Given the description of an element on the screen output the (x, y) to click on. 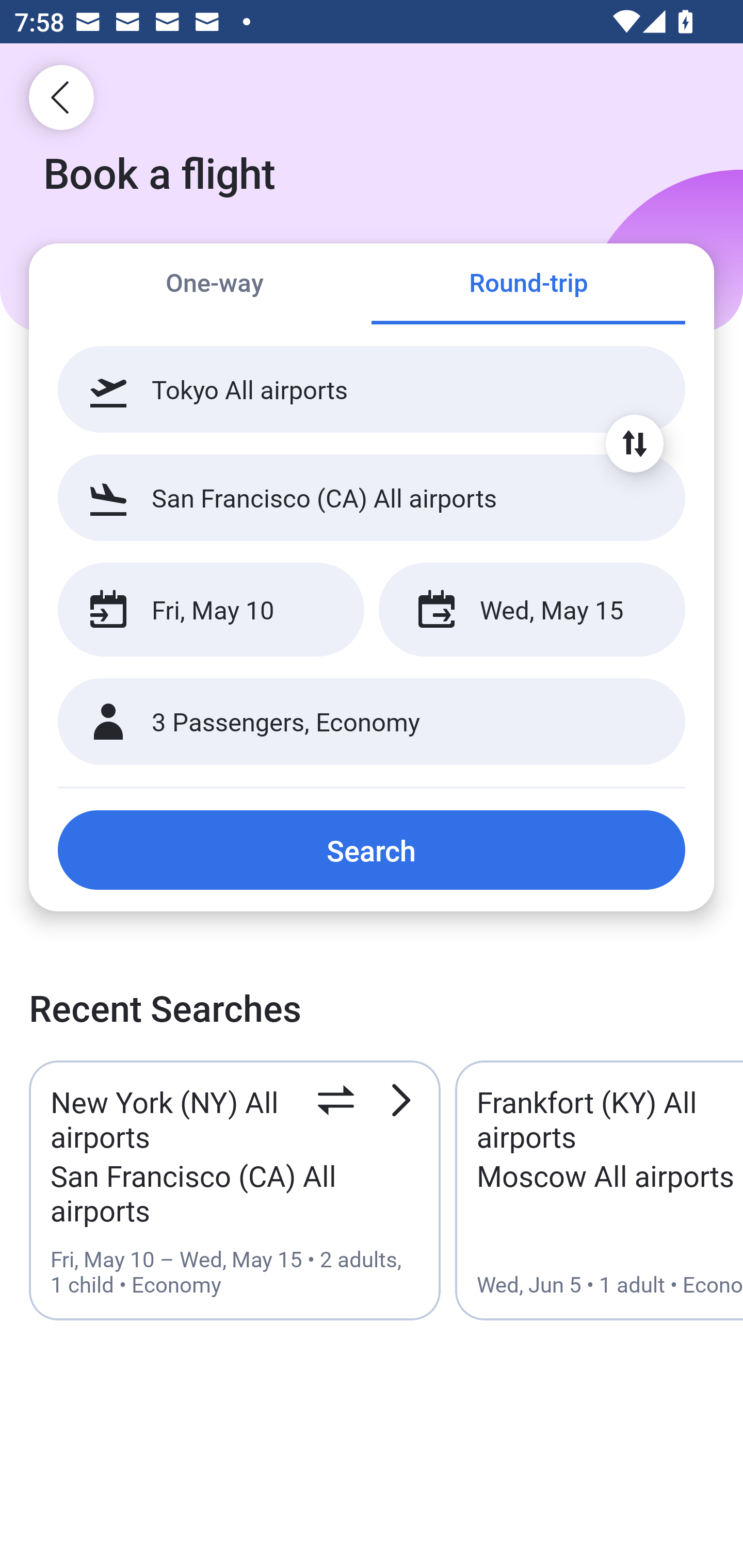
One-way (214, 284)
Tokyo All airports (371, 389)
San Francisco (CA) All airports (371, 497)
Fri, May 10 (210, 609)
Wed, May 15 (531, 609)
3 Passengers, Economy (371, 721)
Search (371, 849)
